Given the description of an element on the screen output the (x, y) to click on. 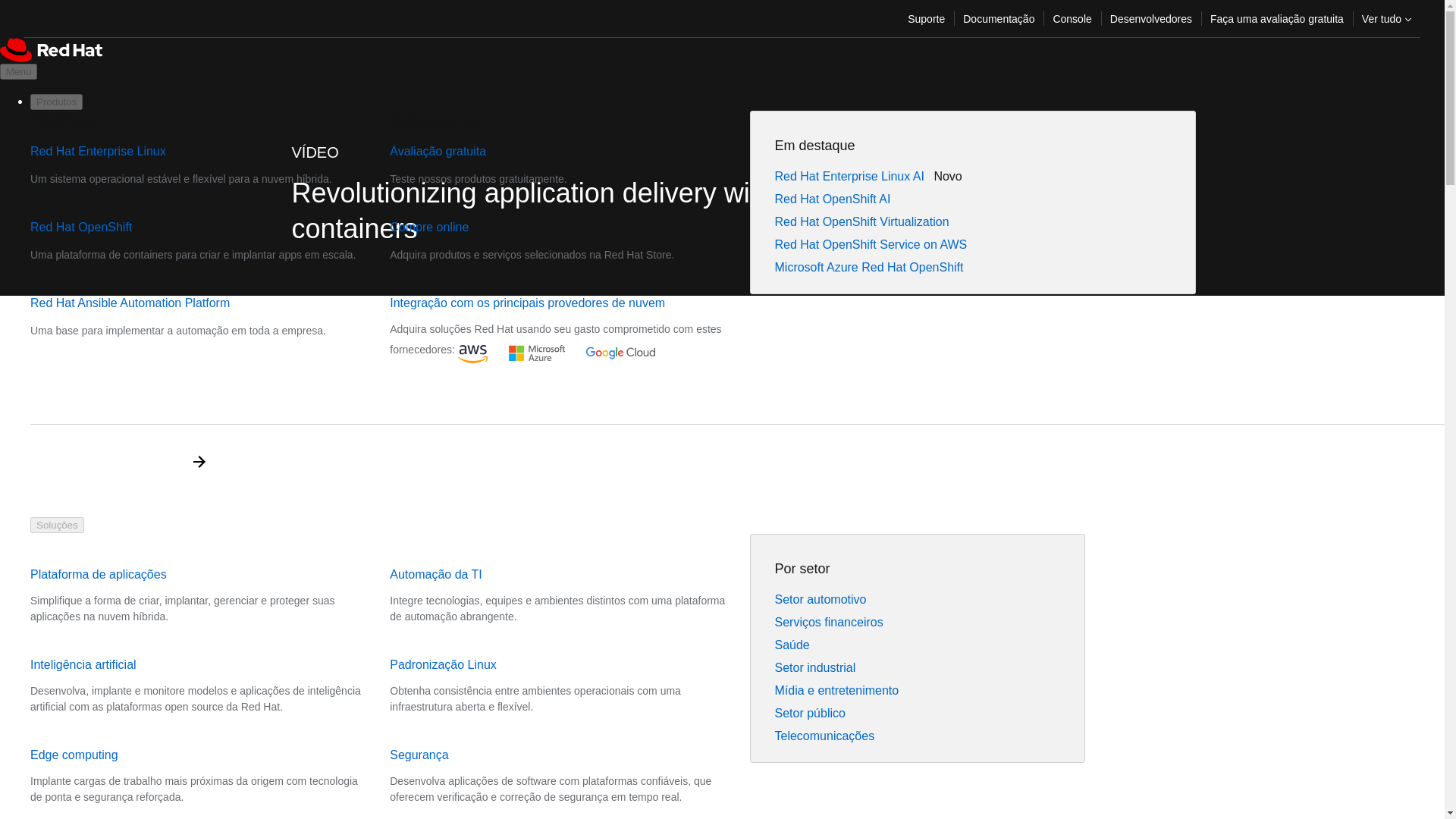
Suporte (925, 18)
Desenvolvedores (1150, 18)
Ver tudo (1386, 18)
Console (1071, 18)
